Given the description of an element on the screen output the (x, y) to click on. 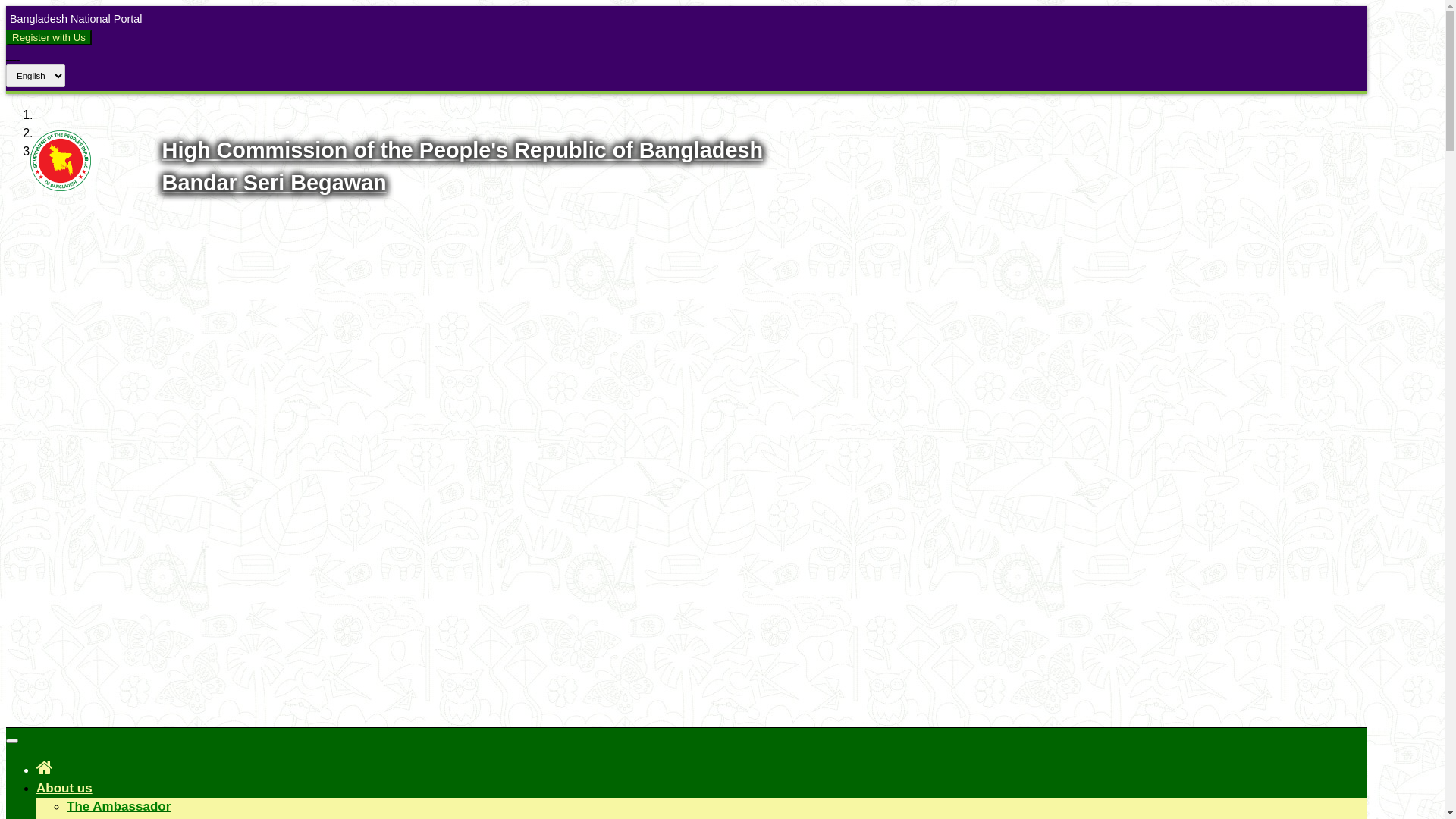
About us Element type: text (64, 788)
Home Element type: hover (44, 767)
Register with Us Element type: text (48, 37)
Bangladesh National Portal Element type: text (73, 18)
Logo Element type: hover (60, 186)
Register with Us Element type: text (48, 37)
The Ambassador Element type: text (118, 806)
